Given the description of an element on the screen output the (x, y) to click on. 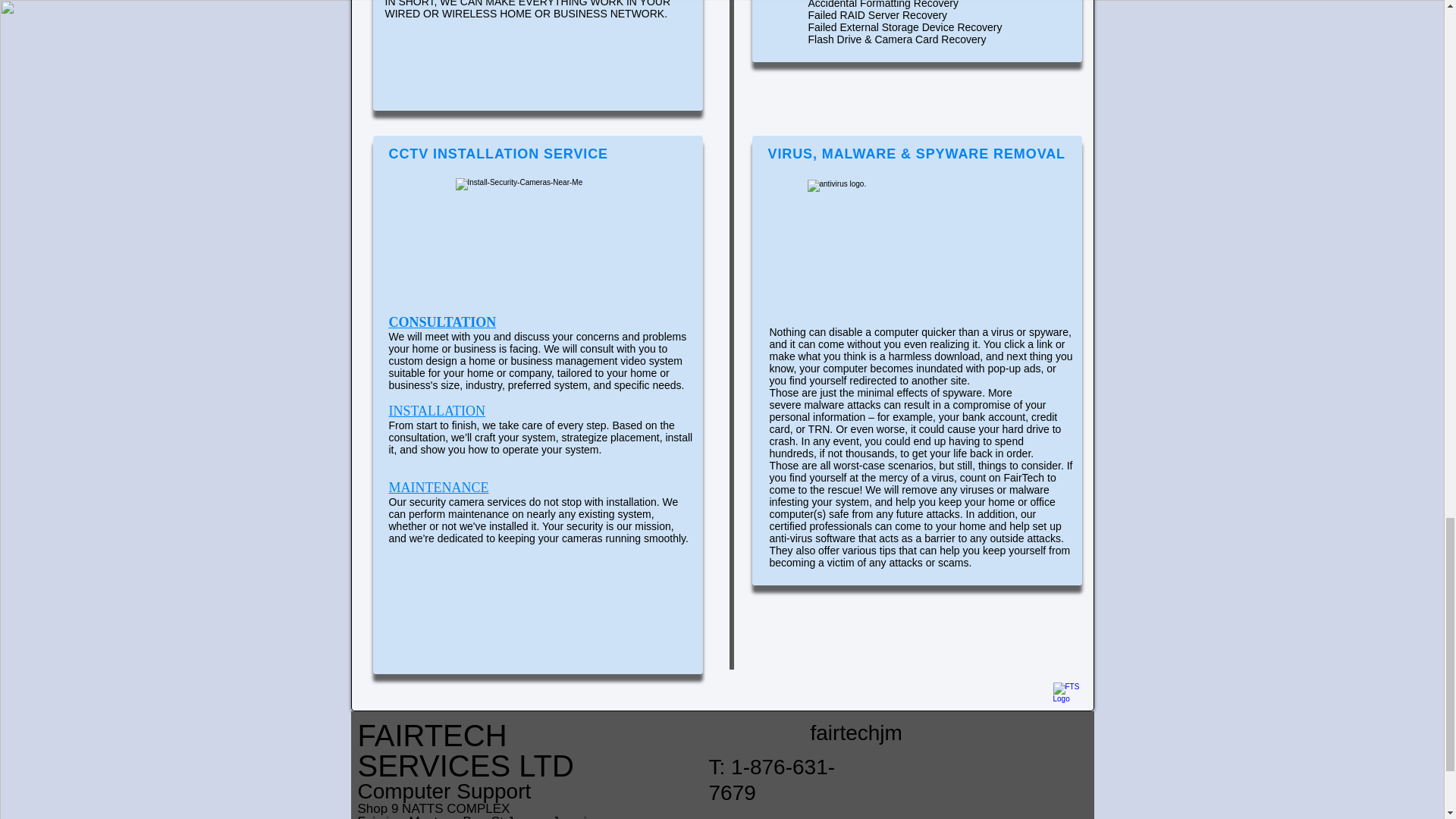
FTS LOGO2014A.png (1066, 696)
